Given the description of an element on the screen output the (x, y) to click on. 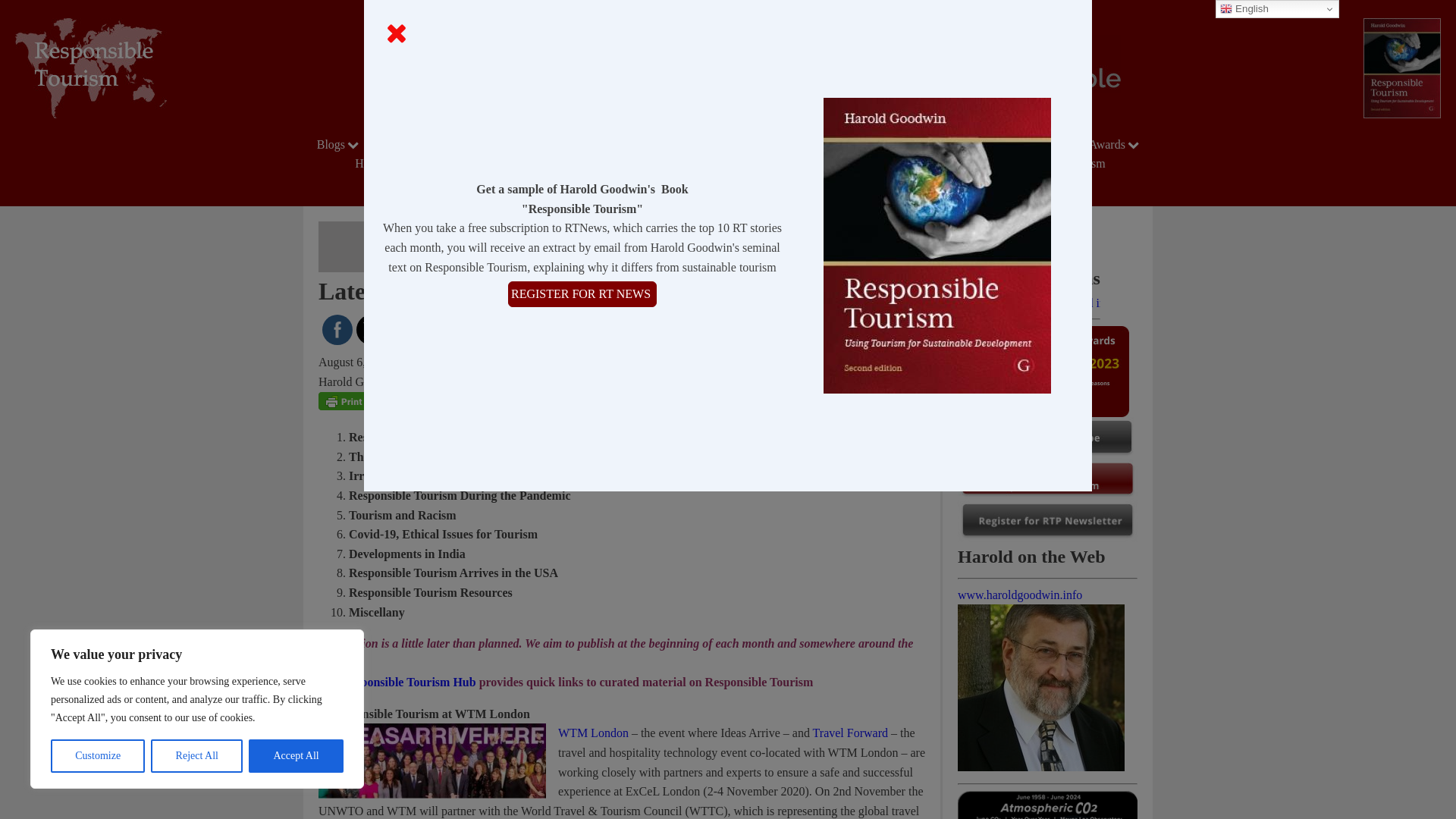
Twitter (371, 330)
Harold Goodwin inducted into Global Travel Hall of Fame (1029, 302)
Follow by Email (405, 329)
About Us (550, 144)
OverTourism (927, 144)
2022 Responsible Tourism Charter (686, 144)
YouTube (439, 329)
Platform for Change (440, 144)
Customize (97, 756)
Accept All (295, 756)
Reject All (197, 756)
What is RT? (829, 144)
Blogs (340, 144)
RSS (473, 329)
Click for more CO2 Earth info... (1047, 805)
